Given the description of an element on the screen output the (x, y) to click on. 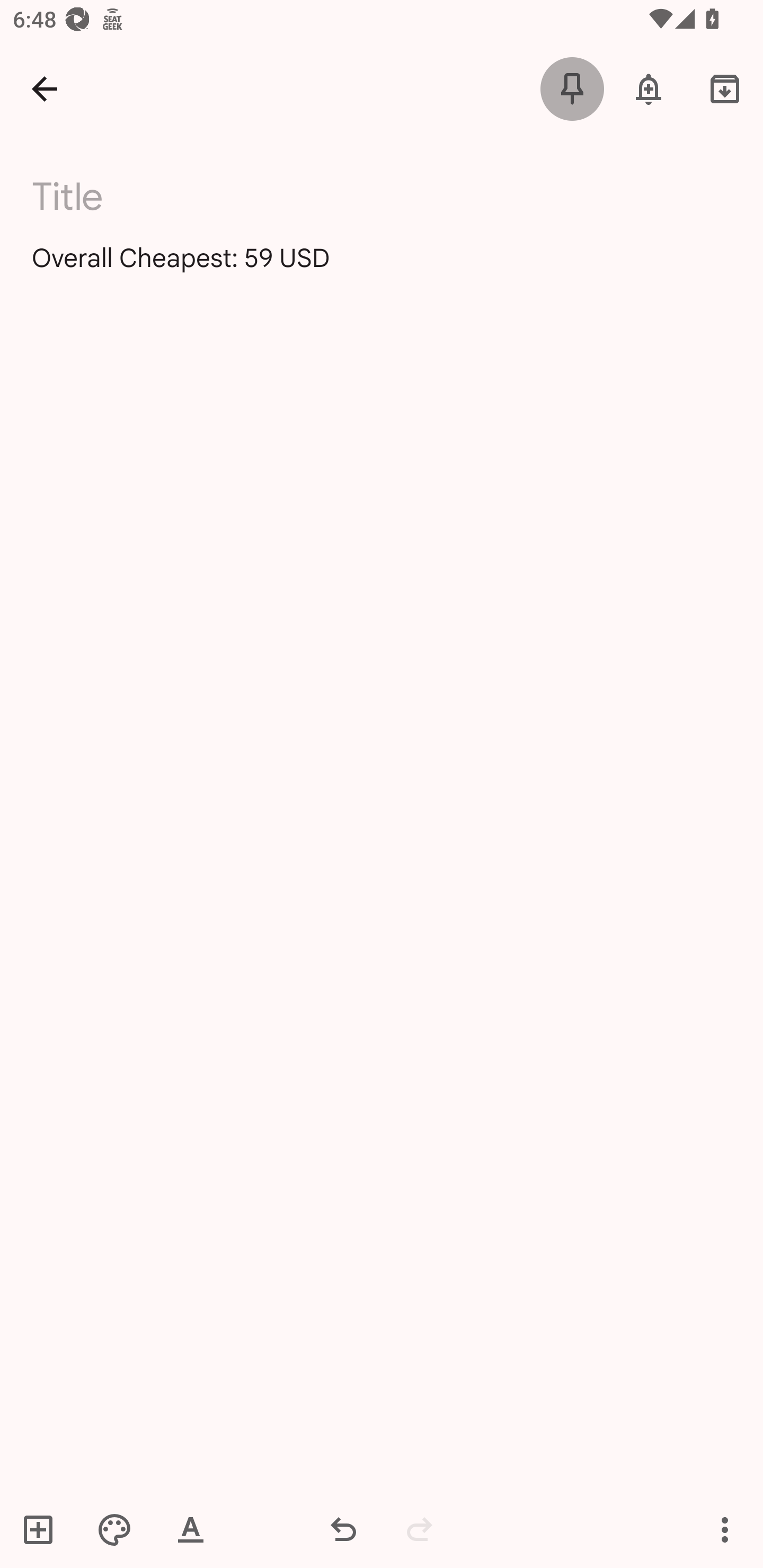
Navigate up (44, 88)
Pin (572, 88)
Reminder (648, 88)
Archive (724, 88)
Overall Cheapest: 59 USD (381, 273)
New list (44, 1529)
Theme (114, 1529)
Show formatting controls (190, 1529)
Undo (343, 1529)
Redo (419, 1529)
Action (724, 1529)
